Given the description of an element on the screen output the (x, y) to click on. 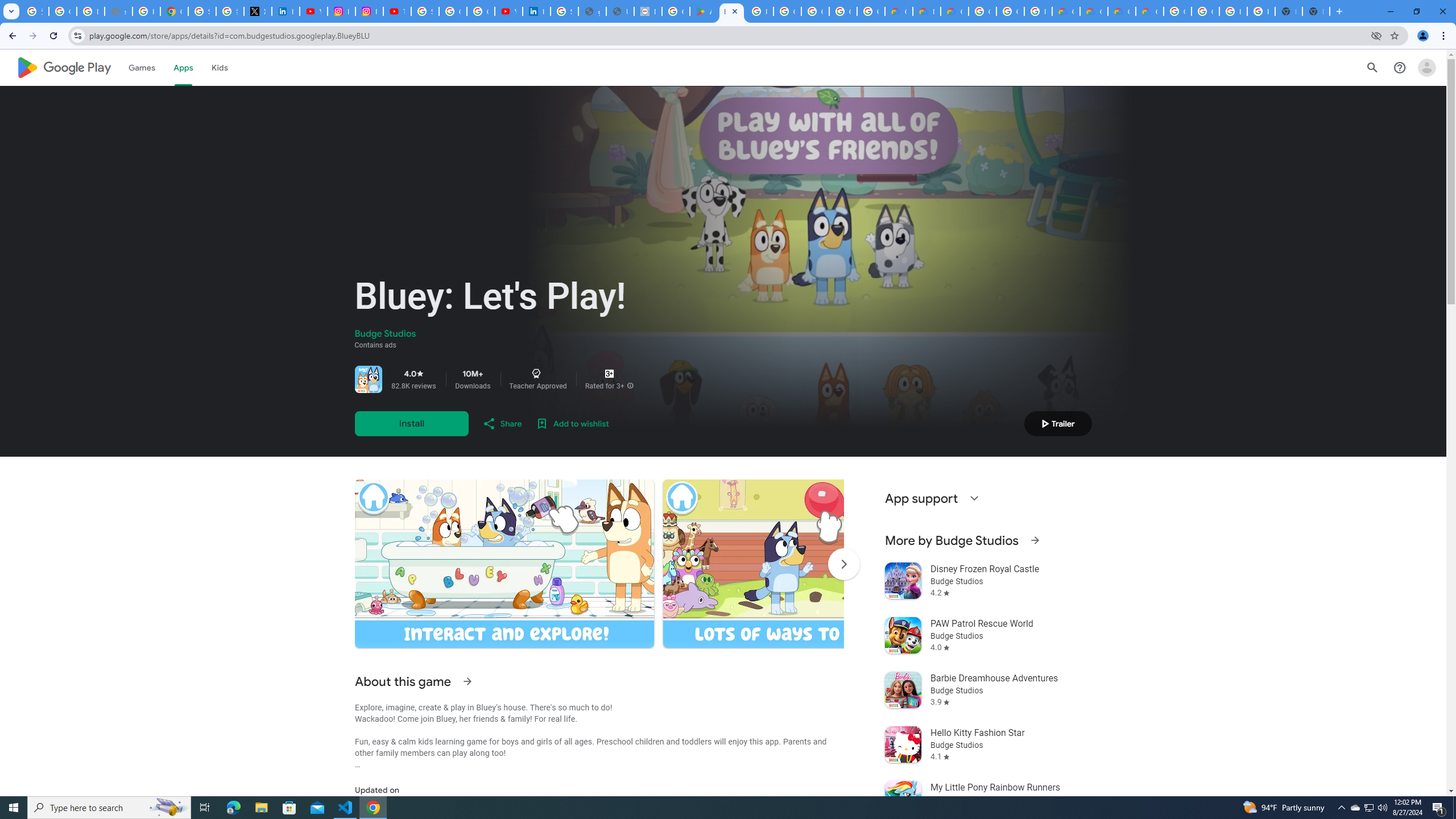
Content rating (609, 373)
More info about this content rating (630, 385)
Scroll Next (843, 563)
YouTube Content Monetization Policies - How YouTube Works (313, 11)
Play trailer (1058, 423)
New Tab (1316, 11)
